Given the description of an element on the screen output the (x, y) to click on. 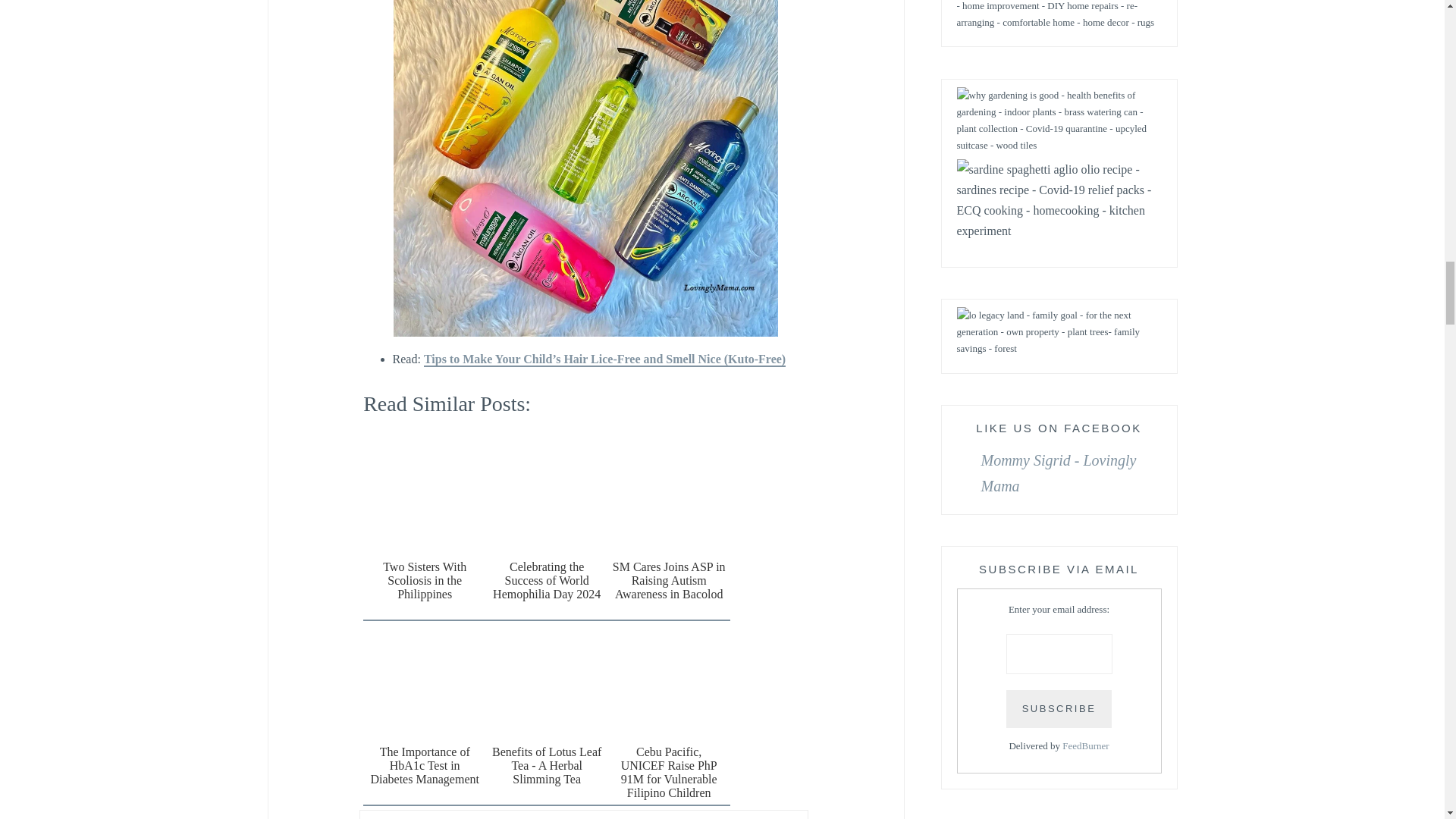
Subscribe (1059, 709)
